Given the description of an element on the screen output the (x, y) to click on. 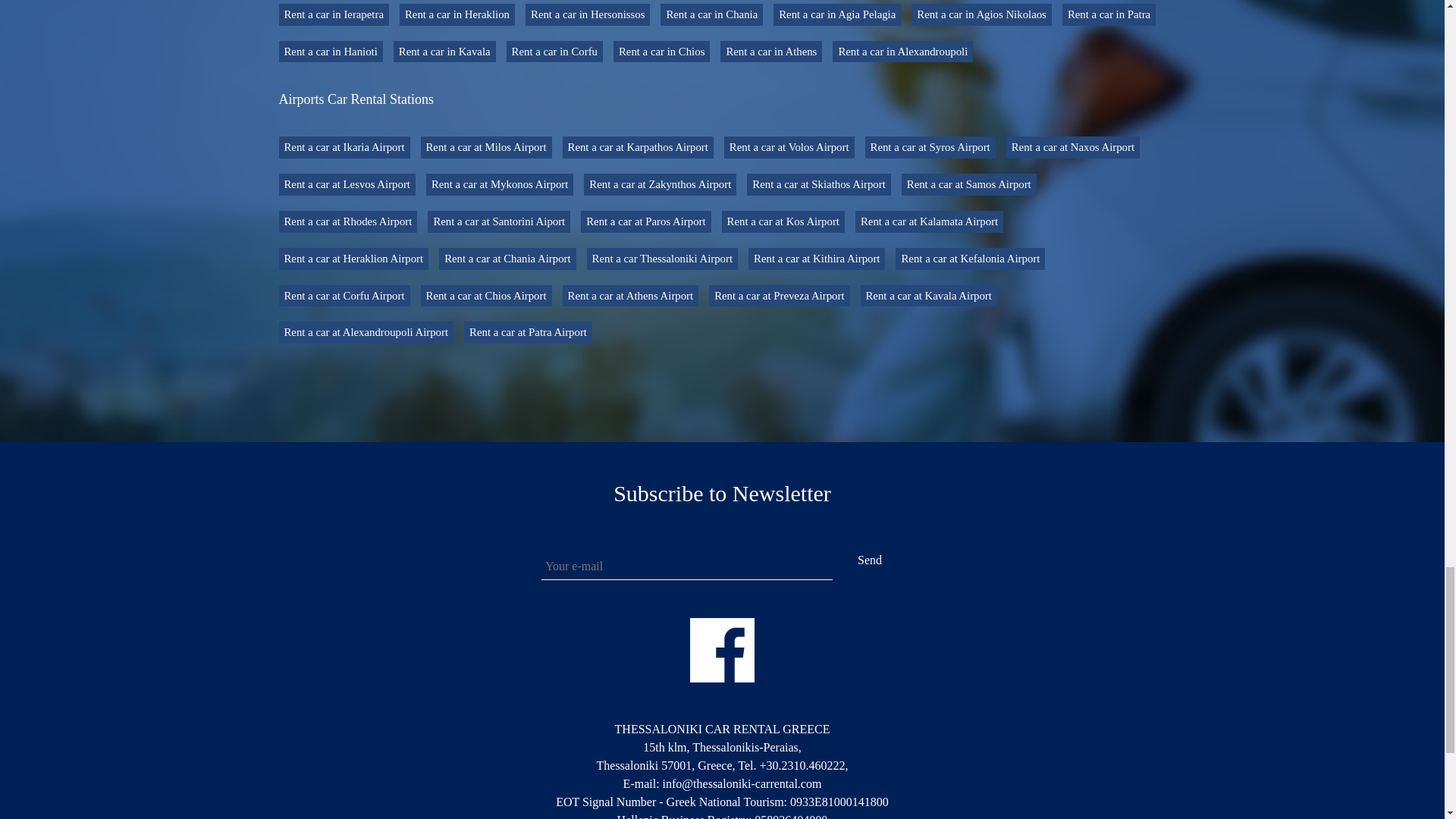
Send (869, 560)
